Given the description of an element on the screen output the (x, y) to click on. 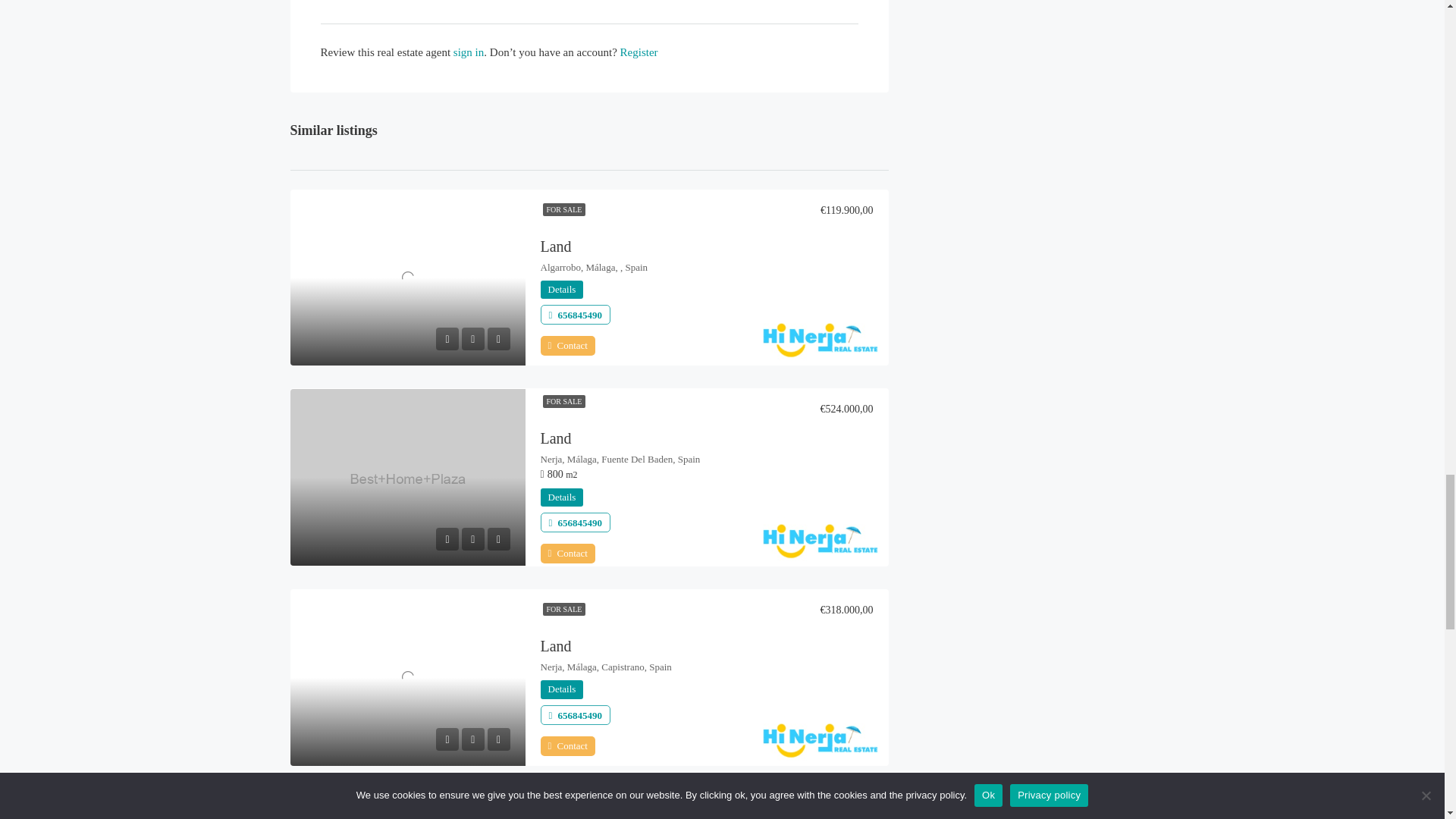
call agent (575, 315)
read more (561, 289)
read more (561, 497)
call agent (575, 522)
